Given the description of an element on the screen output the (x, y) to click on. 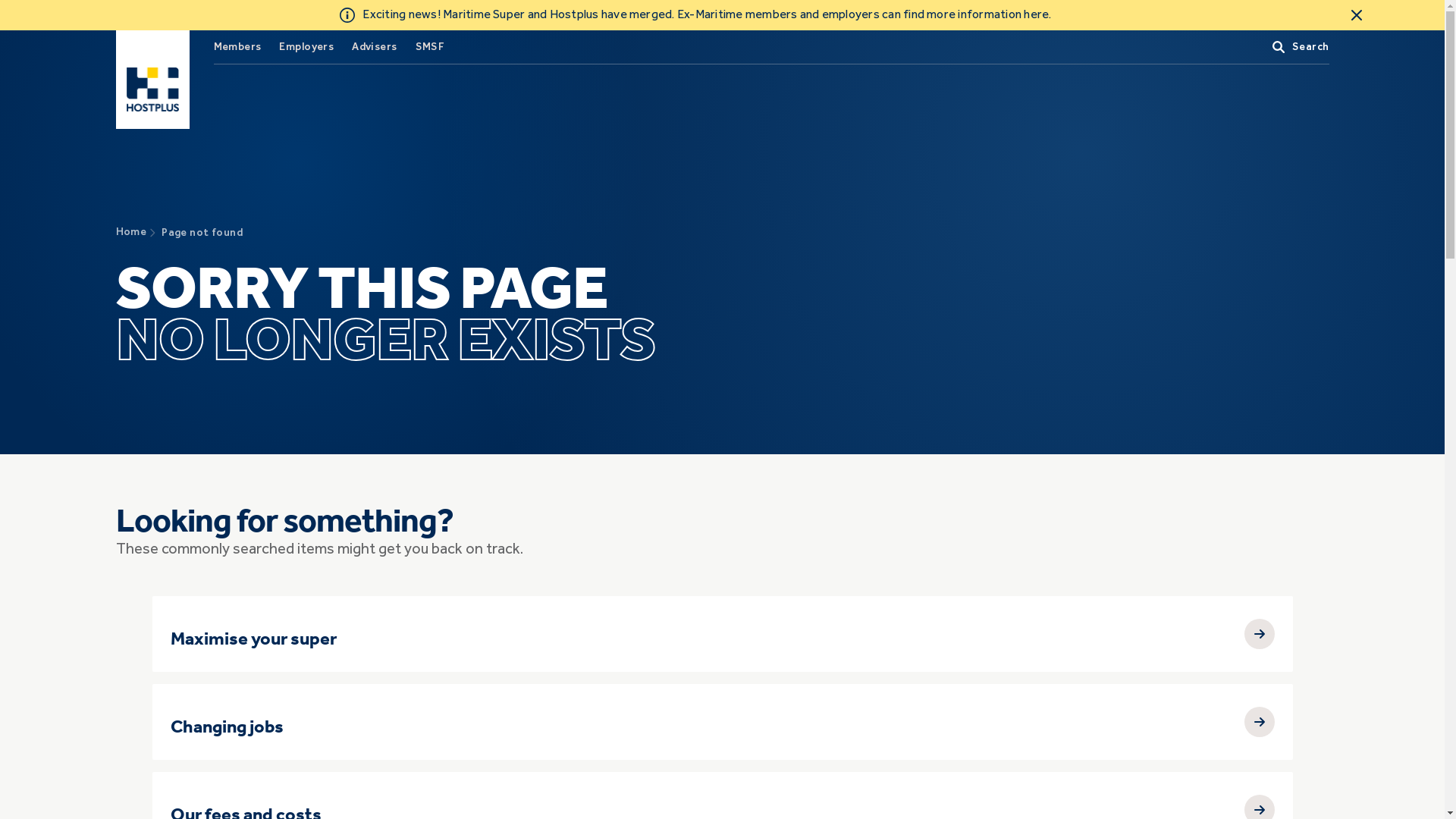
SMSF Element type: text (430, 46)
Employers Element type: text (306, 46)
Members Element type: text (237, 46)
Maximise your super Element type: text (721, 633)
Home Element type: text (130, 231)
Advisers Element type: text (373, 46)
Changing jobs Element type: text (721, 721)
